Given the description of an element on the screen output the (x, y) to click on. 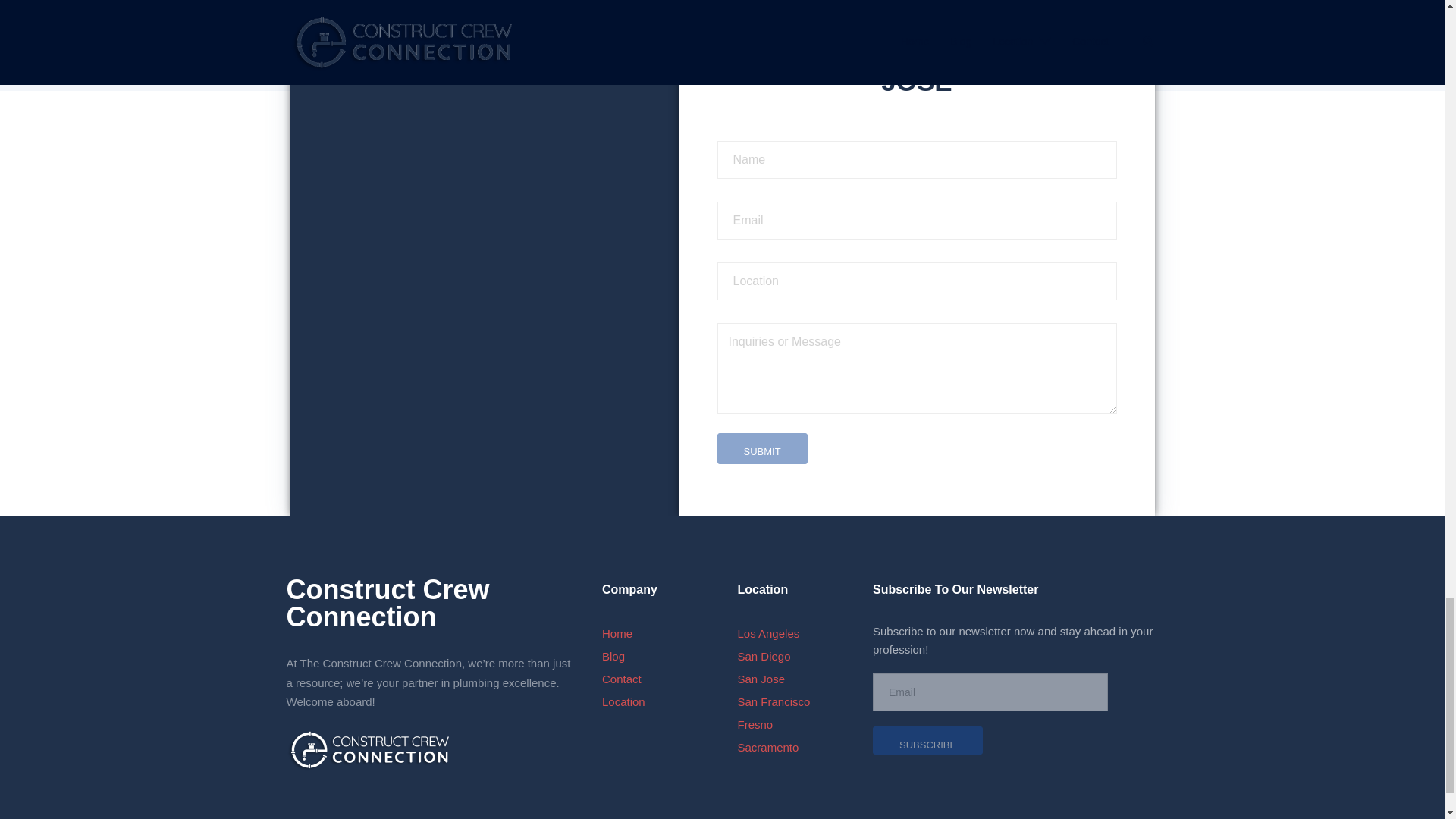
San Francisco (772, 701)
Home (616, 633)
Los Angeles (767, 633)
Location (623, 701)
SUBMIT (762, 448)
Blog (613, 656)
San Jose (760, 678)
Contact (622, 678)
San Diego (763, 656)
